Given the description of an element on the screen output the (x, y) to click on. 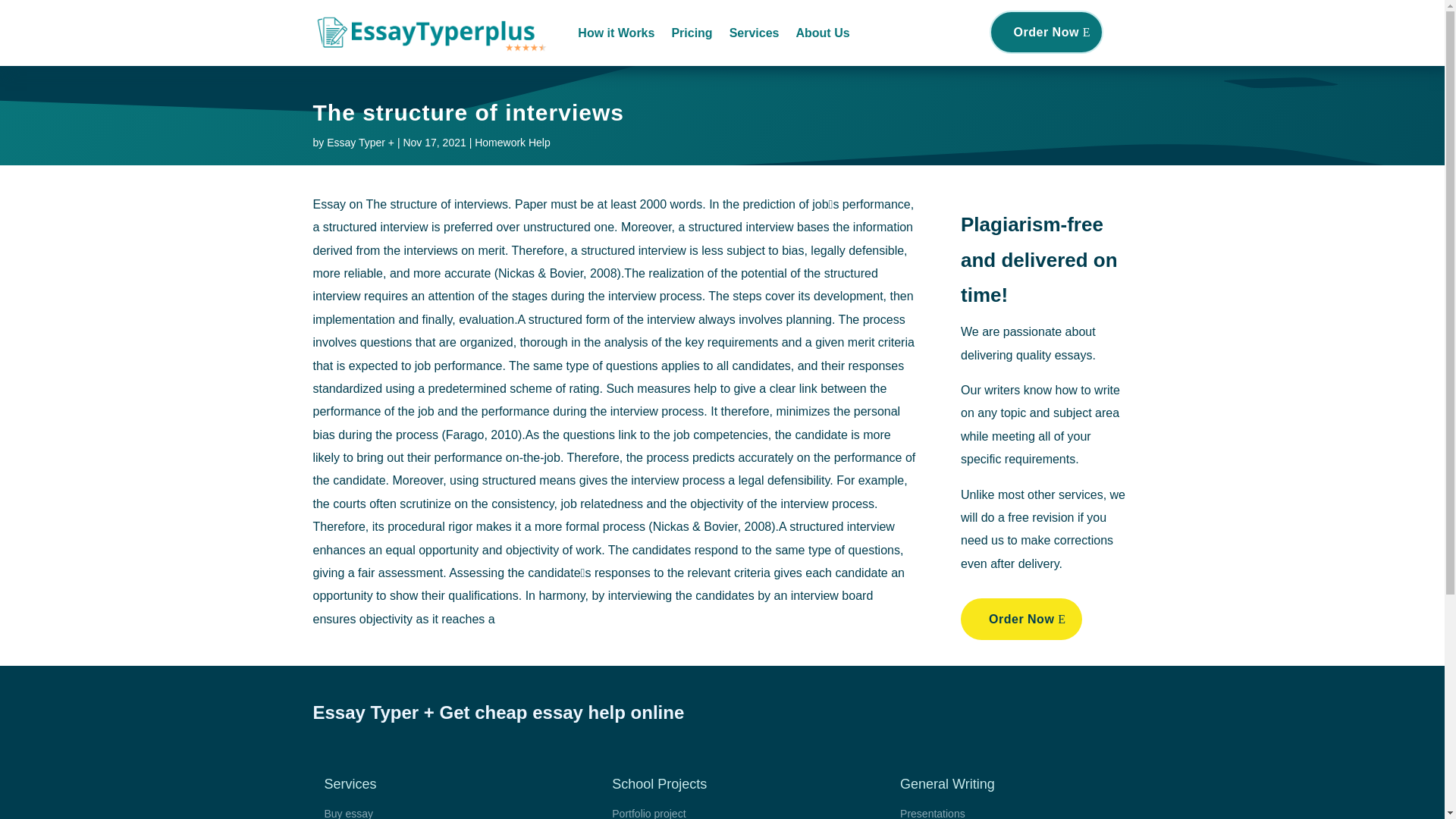
Order Now (1046, 32)
Homework Help (512, 142)
How it Works (615, 33)
About Us (821, 33)
Order Now (1020, 618)
